Given the description of an element on the screen output the (x, y) to click on. 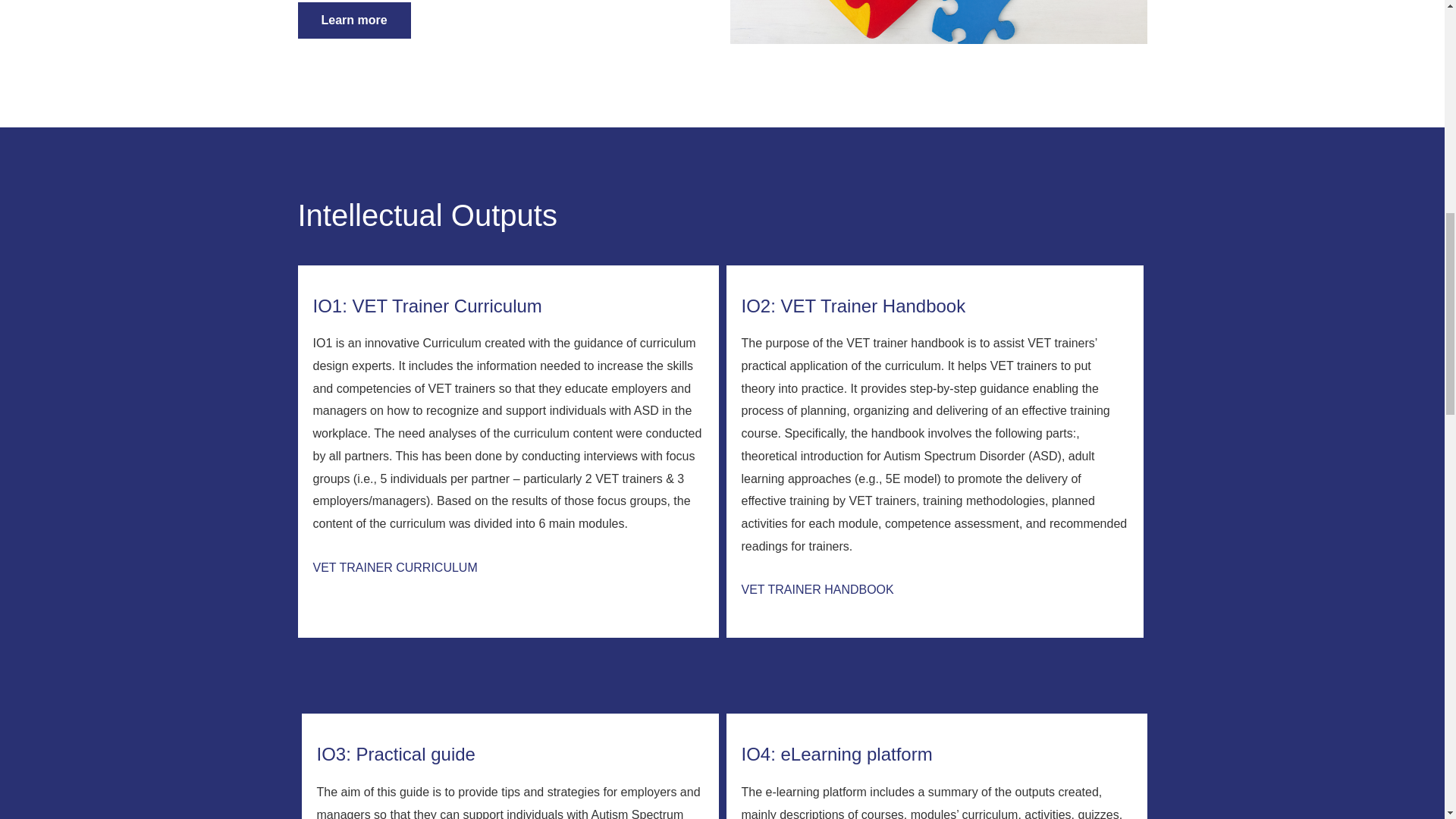
IO4: eLearning platform (837, 753)
VET TRAINER HANDBOOK (817, 589)
Learn more (353, 20)
VET TRAINER CURRICULUM (395, 567)
